Given the description of an element on the screen output the (x, y) to click on. 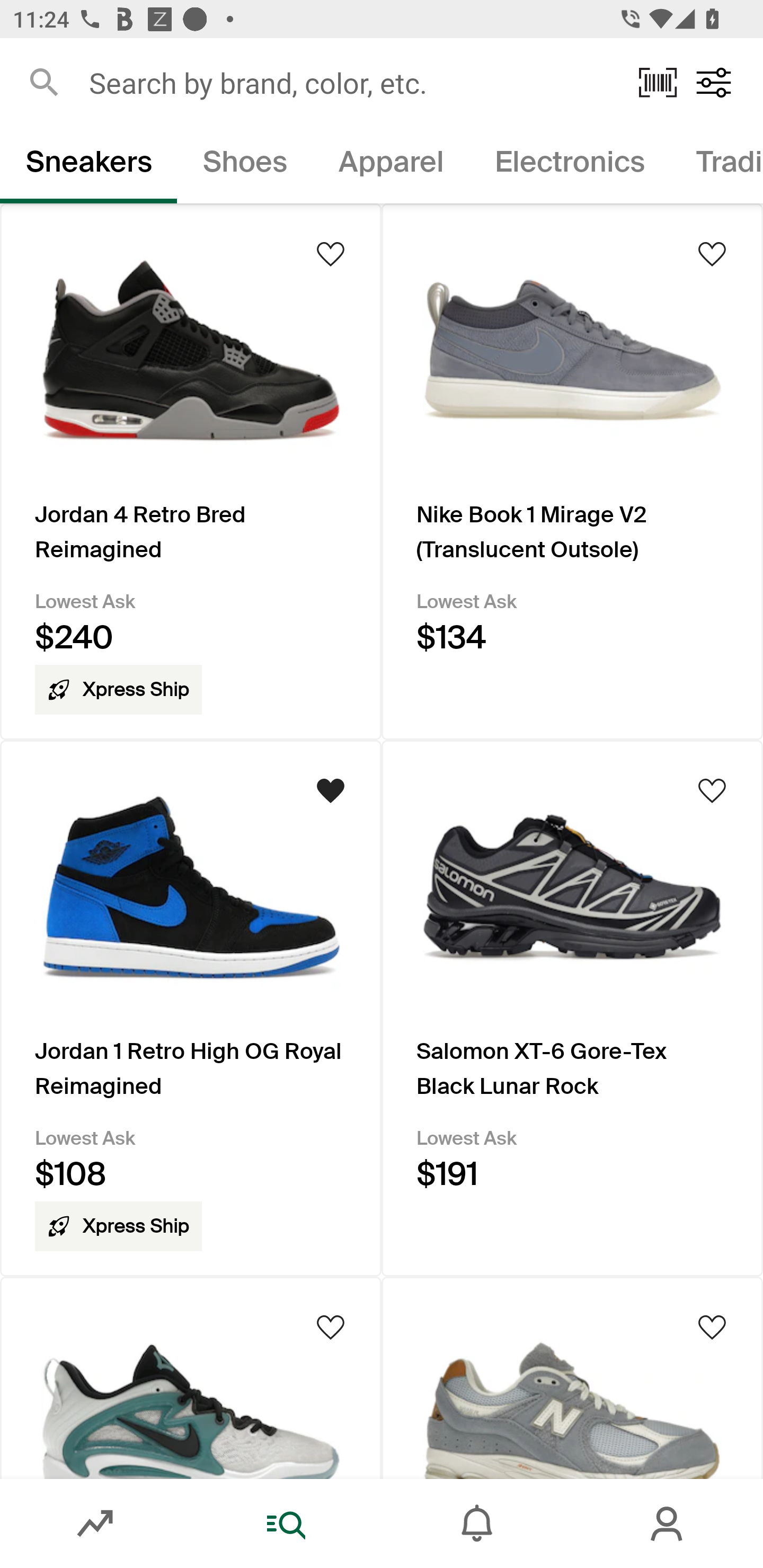
Search by brand, color, etc. (351, 82)
Shoes (244, 165)
Apparel (390, 165)
Electronics (569, 165)
Product Image (190, 1377)
Product Image (572, 1377)
Market (95, 1523)
Inbox (476, 1523)
Account (667, 1523)
